Given the description of an element on the screen output the (x, y) to click on. 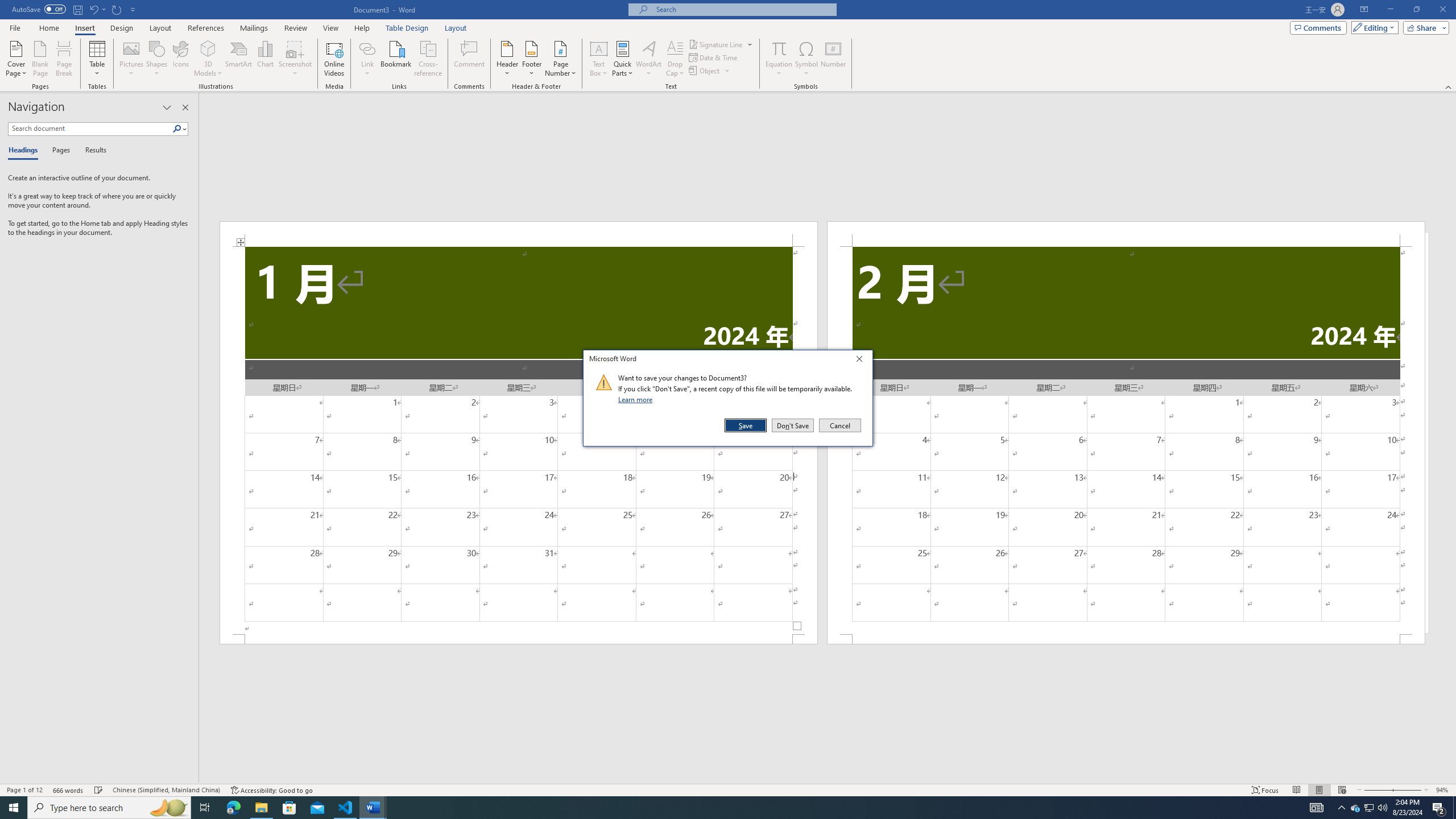
Don't Save (792, 425)
Chart... (265, 58)
Bookmark... (396, 58)
Online Videos... (333, 58)
Footer (531, 58)
Header -Section 2- (1126, 233)
Pictures (131, 58)
